Given the description of an element on the screen output the (x, y) to click on. 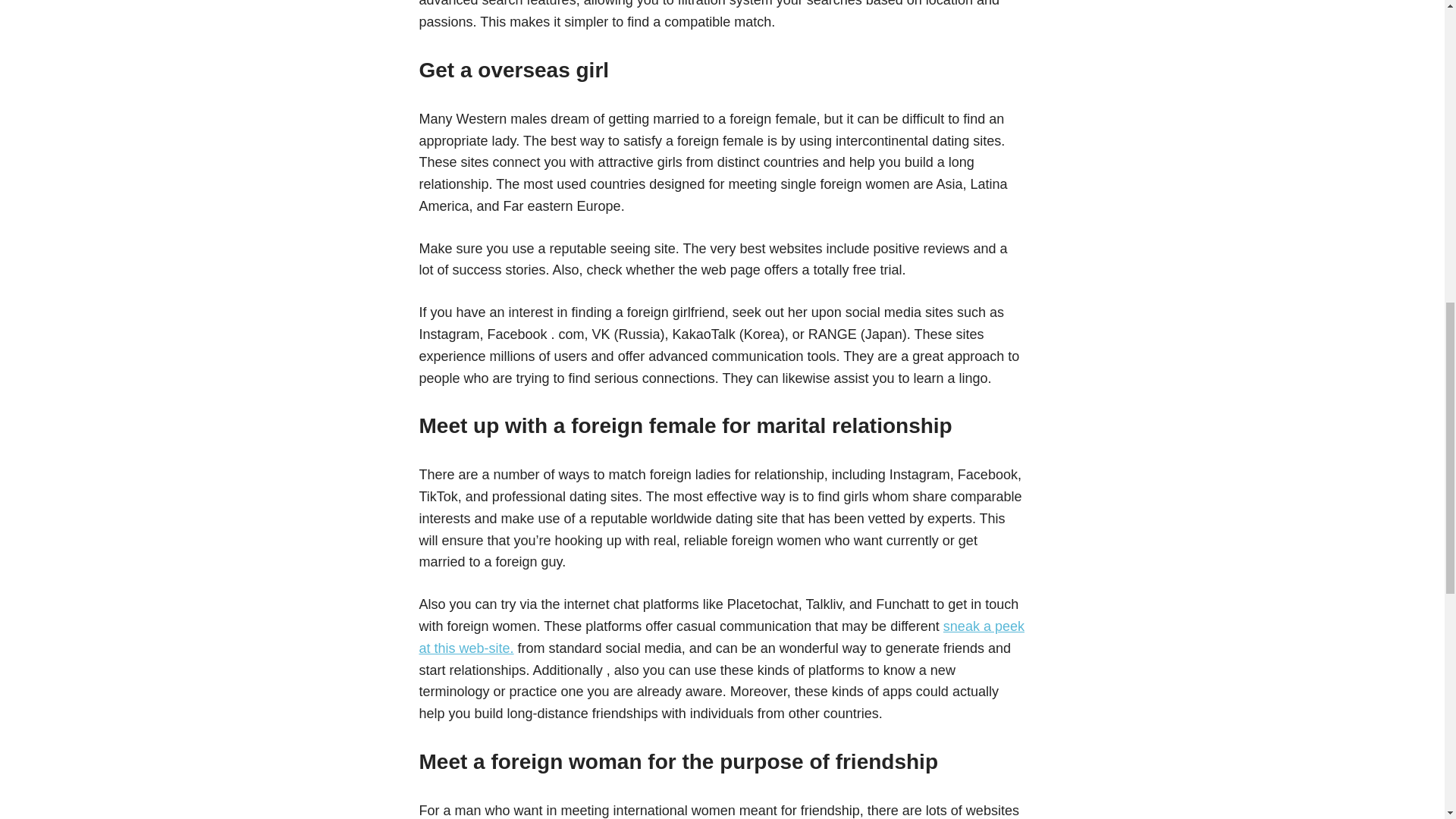
sneak a peek at this web-site. (721, 637)
